Given the description of an element on the screen output the (x, y) to click on. 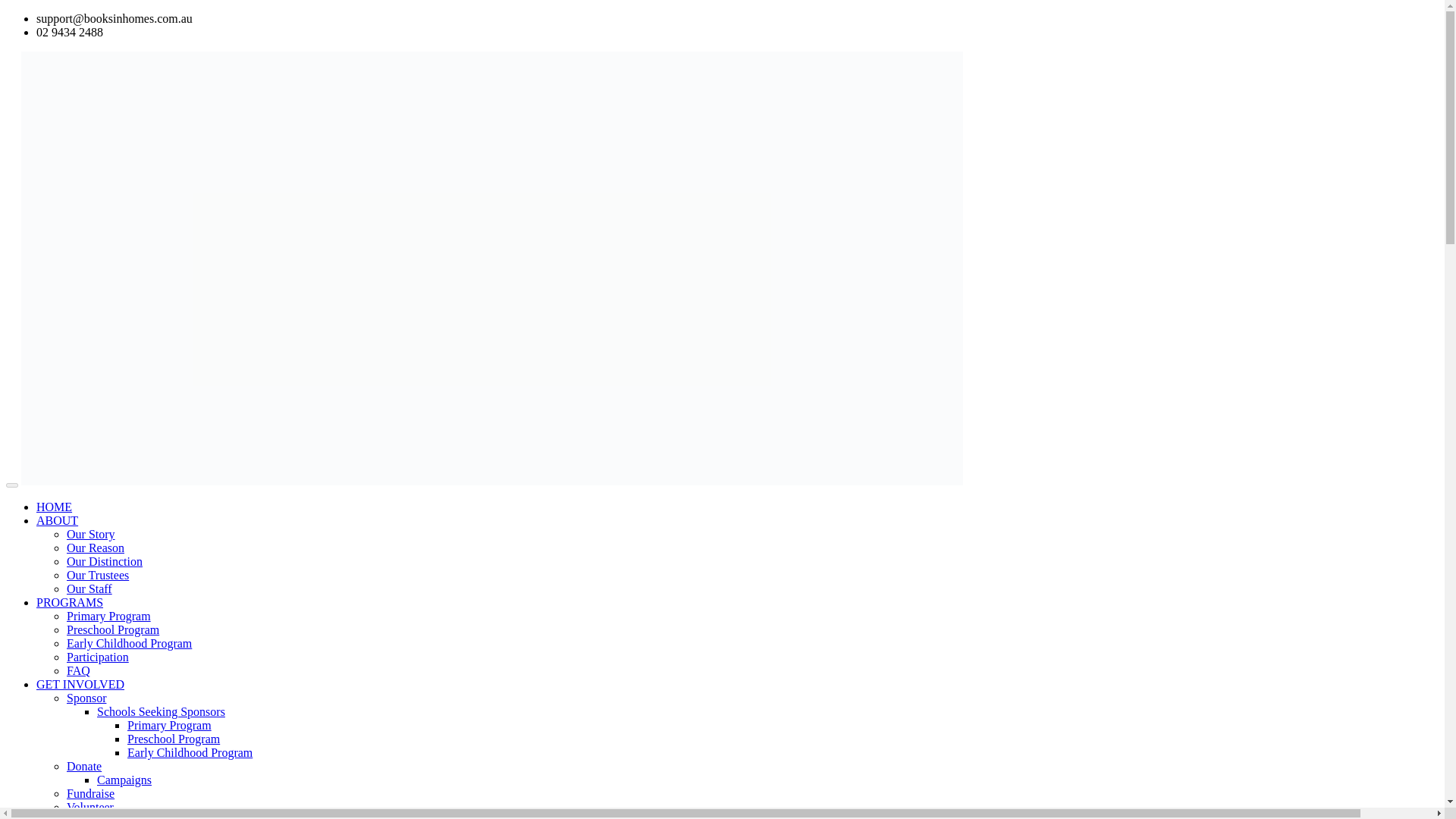
Sponsor (86, 697)
Volunteer (89, 807)
HOME (53, 506)
Fundraise (90, 793)
GET INVOLVED (79, 684)
Our Story (90, 533)
Primary Program (169, 725)
ABOUT (57, 520)
Our Distinction (104, 561)
Booksinhomes.com.au (491, 481)
Early Childhood Program (189, 752)
Primary Program (108, 615)
Donate (83, 766)
FAQ (78, 670)
Our Staff (89, 588)
